Given the description of an element on the screen output the (x, y) to click on. 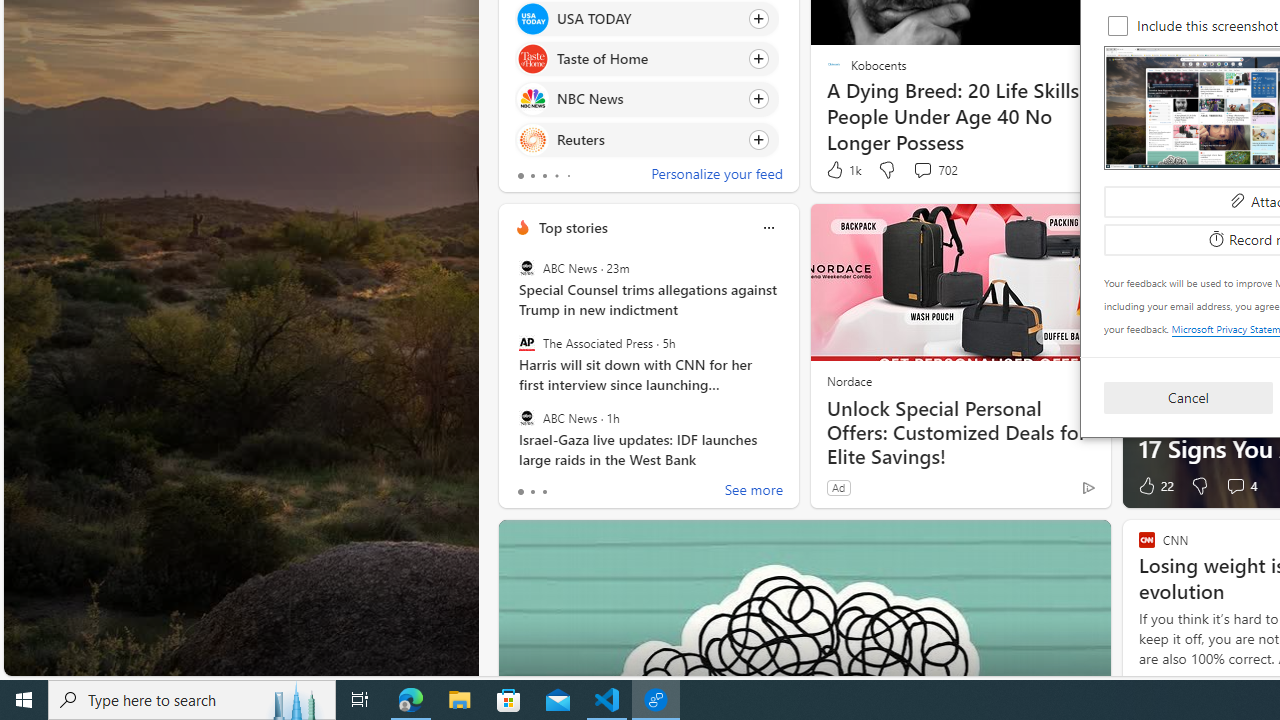
View comments 4 Comment (1234, 485)
tab-1 (532, 491)
Edge Feedback - 1 running window (656, 699)
Class: icon-img (768, 228)
View comments 702 Comment (934, 170)
Click to follow source Reuters (646, 138)
View comments 702 Comment (922, 169)
Microsoft Store (509, 699)
Click to follow source NBC News (646, 99)
